Given the description of an element on the screen output the (x, y) to click on. 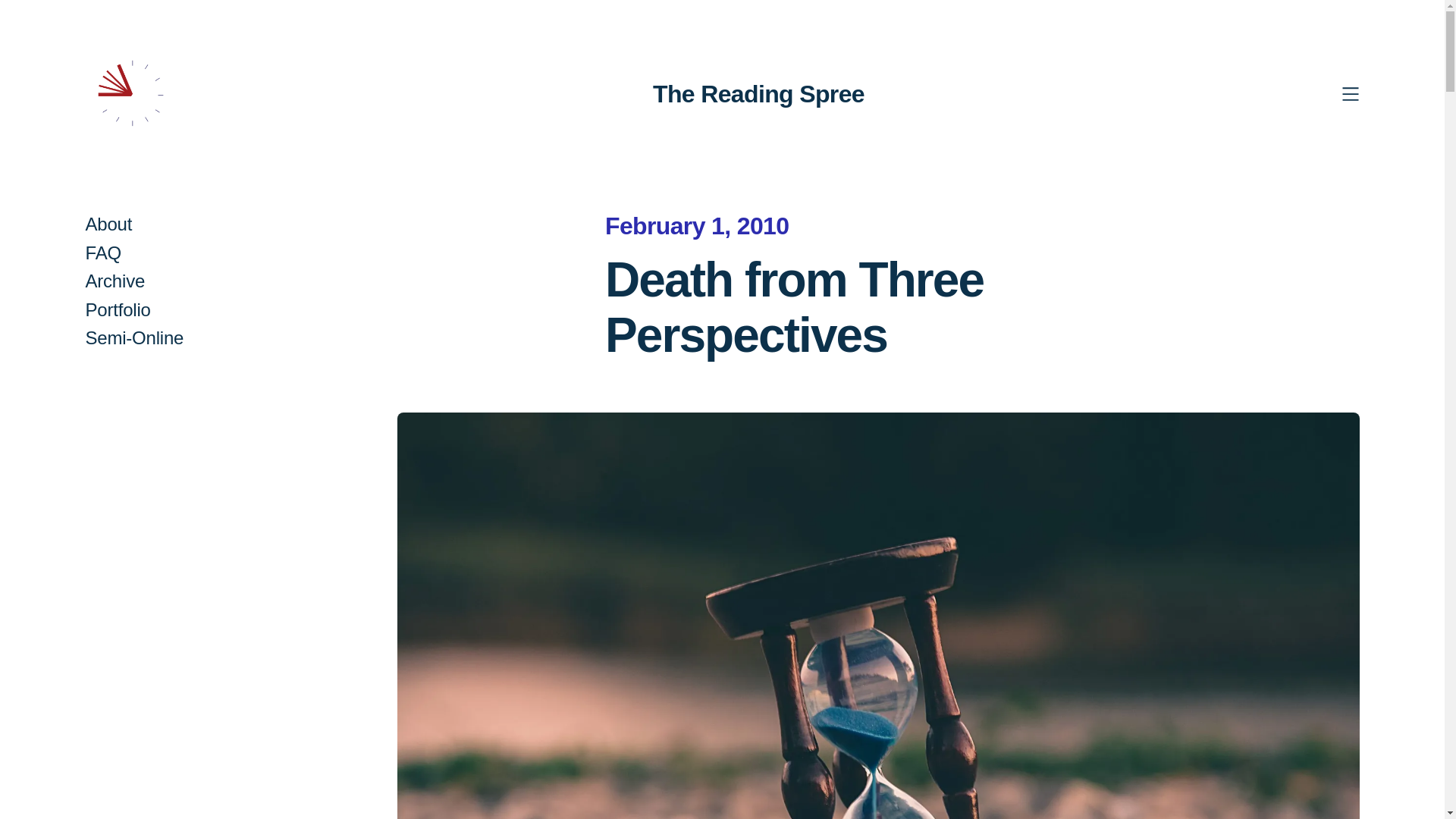
Portfolio (116, 309)
The Reading Spree (758, 93)
Semi-Online (133, 337)
Archive (114, 281)
About (108, 224)
FAQ (102, 252)
